Given the description of an element on the screen output the (x, y) to click on. 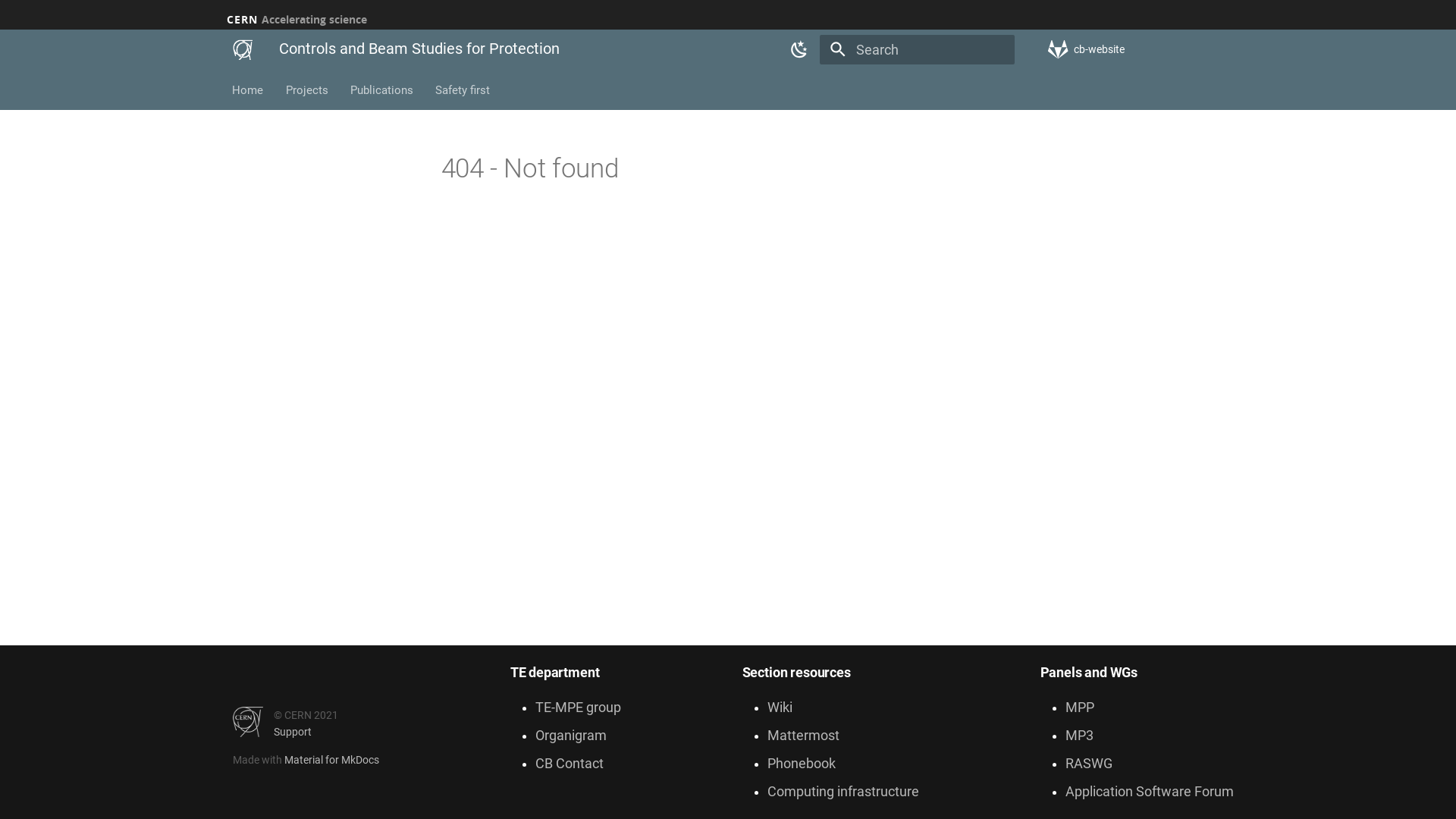
Projects Element type: text (306, 90)
RASWG Element type: text (1088, 763)
Mattermost Element type: text (803, 735)
Switch to dark mode Element type: hover (799, 49)
CERN Accelerating science Element type: text (296, 19)
TE-MPE group Element type: text (578, 707)
Publications Element type: text (381, 90)
Computing infrastructure Element type: text (843, 791)
Phonebook Element type: text (801, 763)
Controls and Beam Studies for Protection Element type: hover (242, 49)
Application Software Forum Element type: text (1149, 791)
CB Contact Element type: text (569, 763)
Home Element type: text (247, 90)
Support Element type: text (292, 731)
Organigram Element type: text (570, 735)
Wiki Element type: text (779, 707)
MP3 Element type: text (1079, 735)
cb-website Element type: text (1135, 49)
Material for MkDocs Element type: text (331, 759)
Safety first Element type: text (463, 90)
MPP Element type: text (1079, 707)
